Given the description of an element on the screen output the (x, y) to click on. 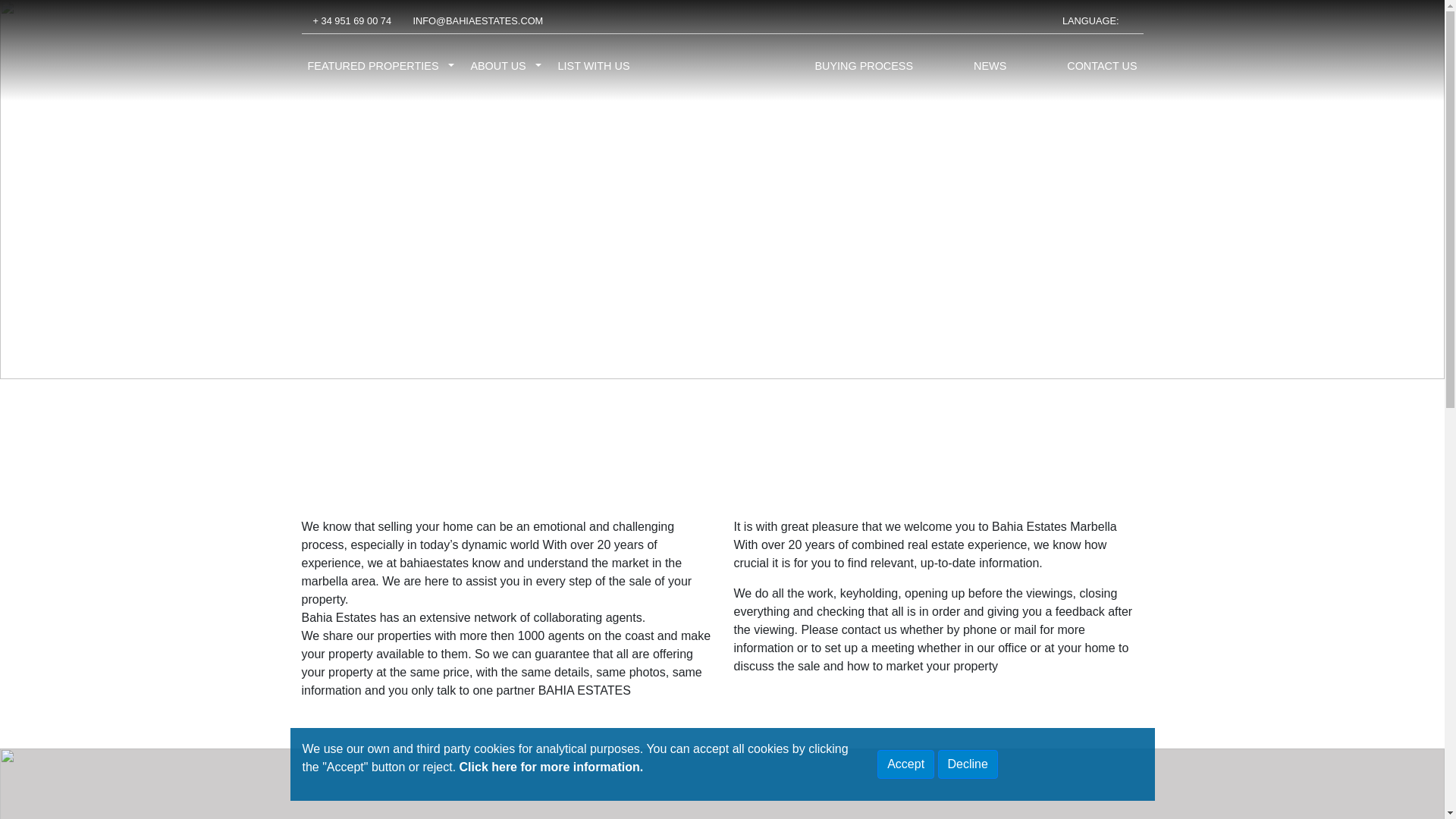
BUYING PROCESS (863, 66)
ABOUT US (497, 66)
FEATURED PROPERTIES (373, 66)
NEWS (989, 66)
CONTACT US (1101, 66)
LIST WITH US (593, 66)
